Given the description of an element on the screen output the (x, y) to click on. 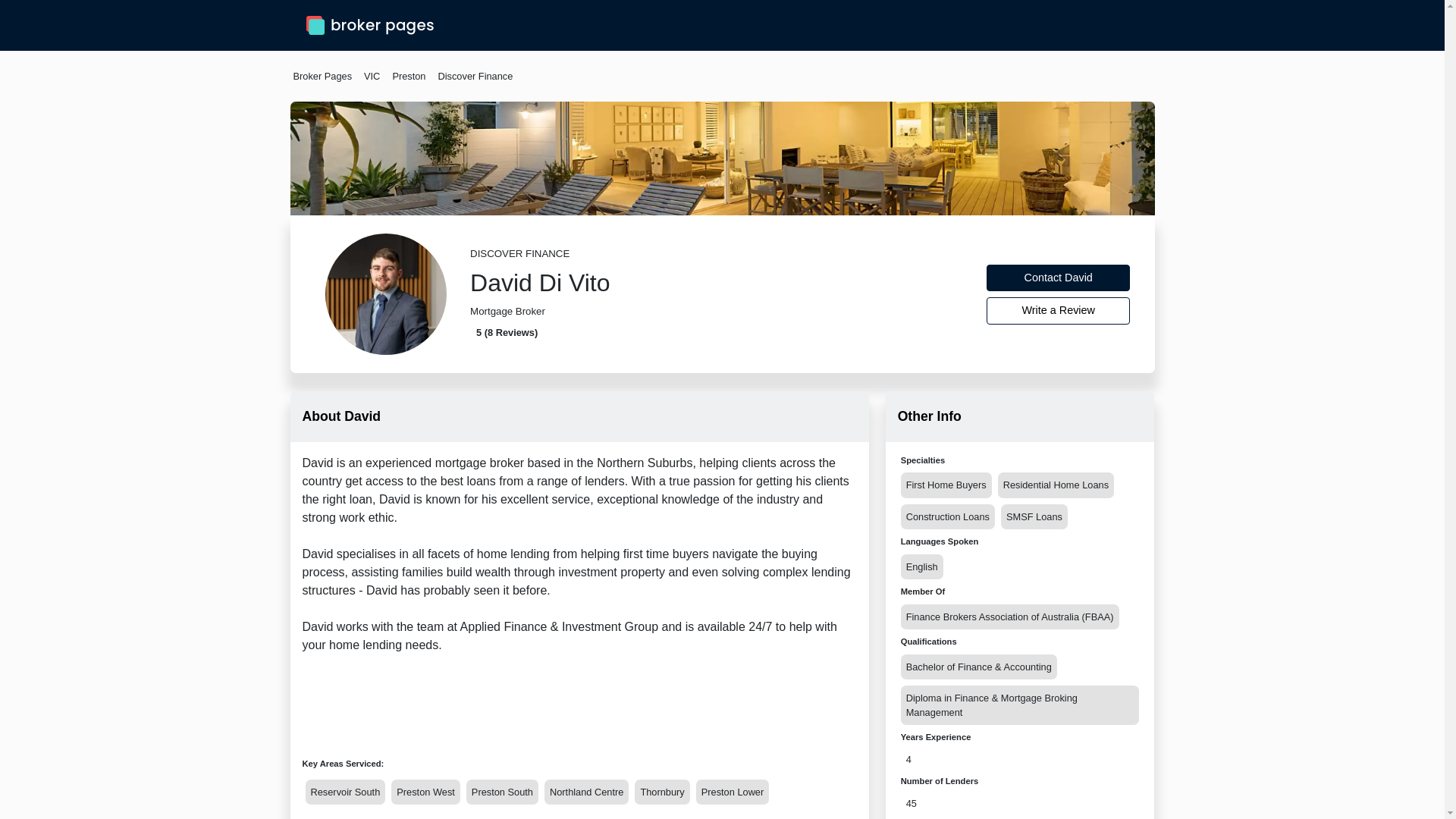
Contact David (1059, 277)
Northland Centre (586, 791)
Preston South (501, 791)
Preston West (425, 791)
Reservoir South (344, 791)
Preston (408, 75)
Preston Lower (732, 791)
Broker Pages (322, 75)
Thornbury (661, 791)
Write a Review (1059, 310)
